Given the description of an element on the screen output the (x, y) to click on. 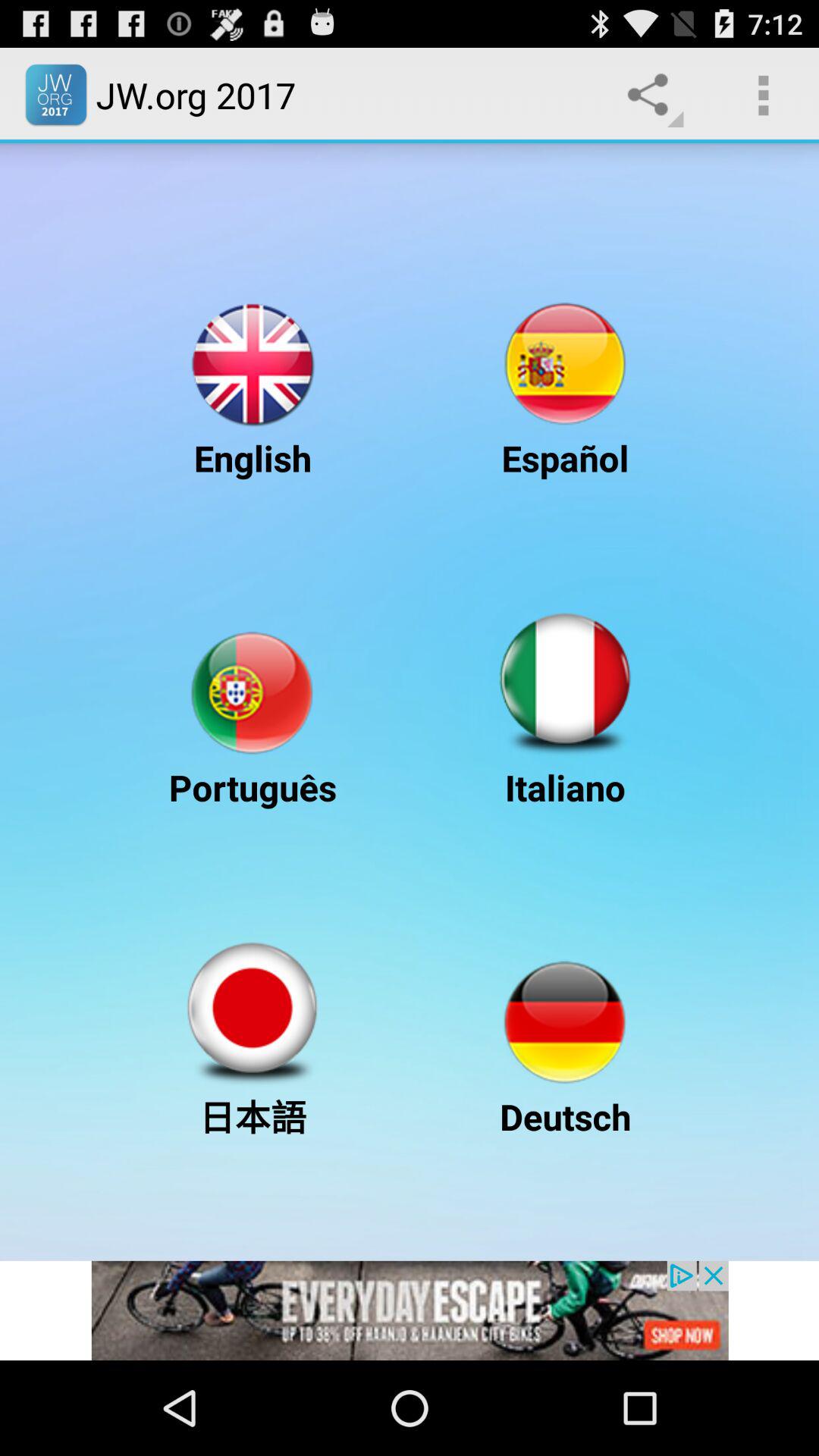
advertisement (409, 1310)
